Given the description of an element on the screen output the (x, y) to click on. 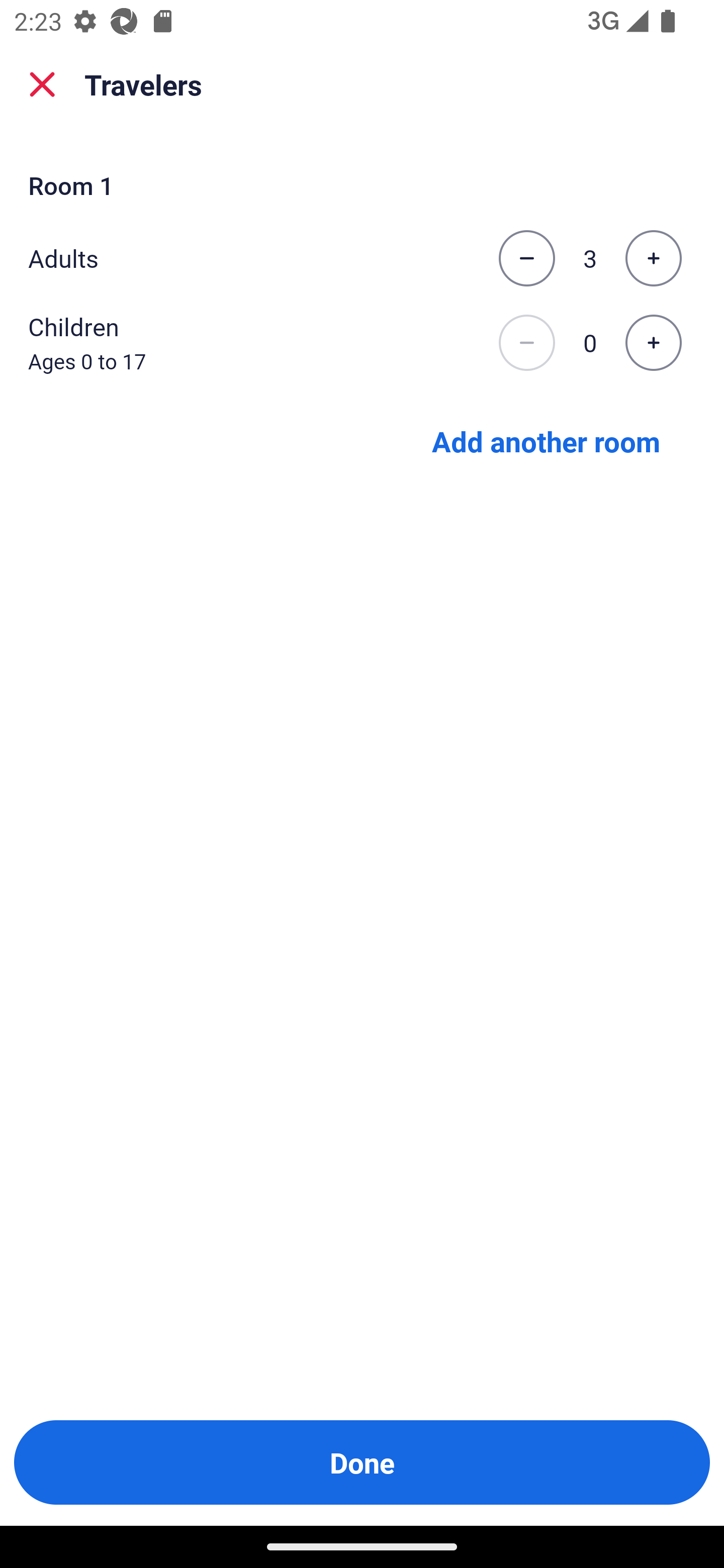
close (42, 84)
Decrease the number of adults (526, 258)
Increase the number of adults (653, 258)
Decrease the number of children (526, 343)
Increase the number of children (653, 343)
Add another room (545, 440)
Done (361, 1462)
